Given the description of an element on the screen output the (x, y) to click on. 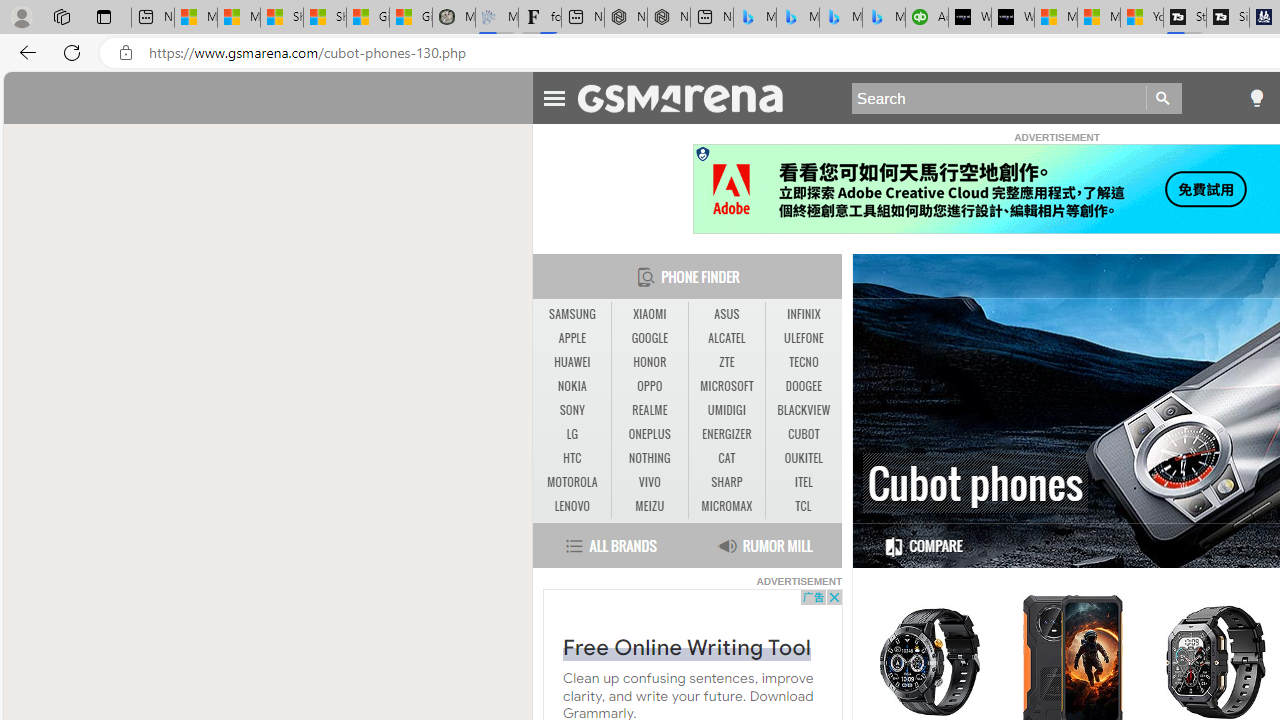
UMIDIGI (726, 411)
Accounting Software for Accountants, CPAs and Bookkeepers (927, 17)
ONEPLUS (649, 434)
HONOR (649, 362)
CAT (726, 458)
ALCATEL (726, 339)
MICROSOFT (726, 385)
UMIDIGI (726, 410)
INFINIX (803, 313)
SAMSUNG (571, 313)
CUBOT (803, 434)
MICROMAX (726, 506)
CAT (726, 457)
